Given the description of an element on the screen output the (x, y) to click on. 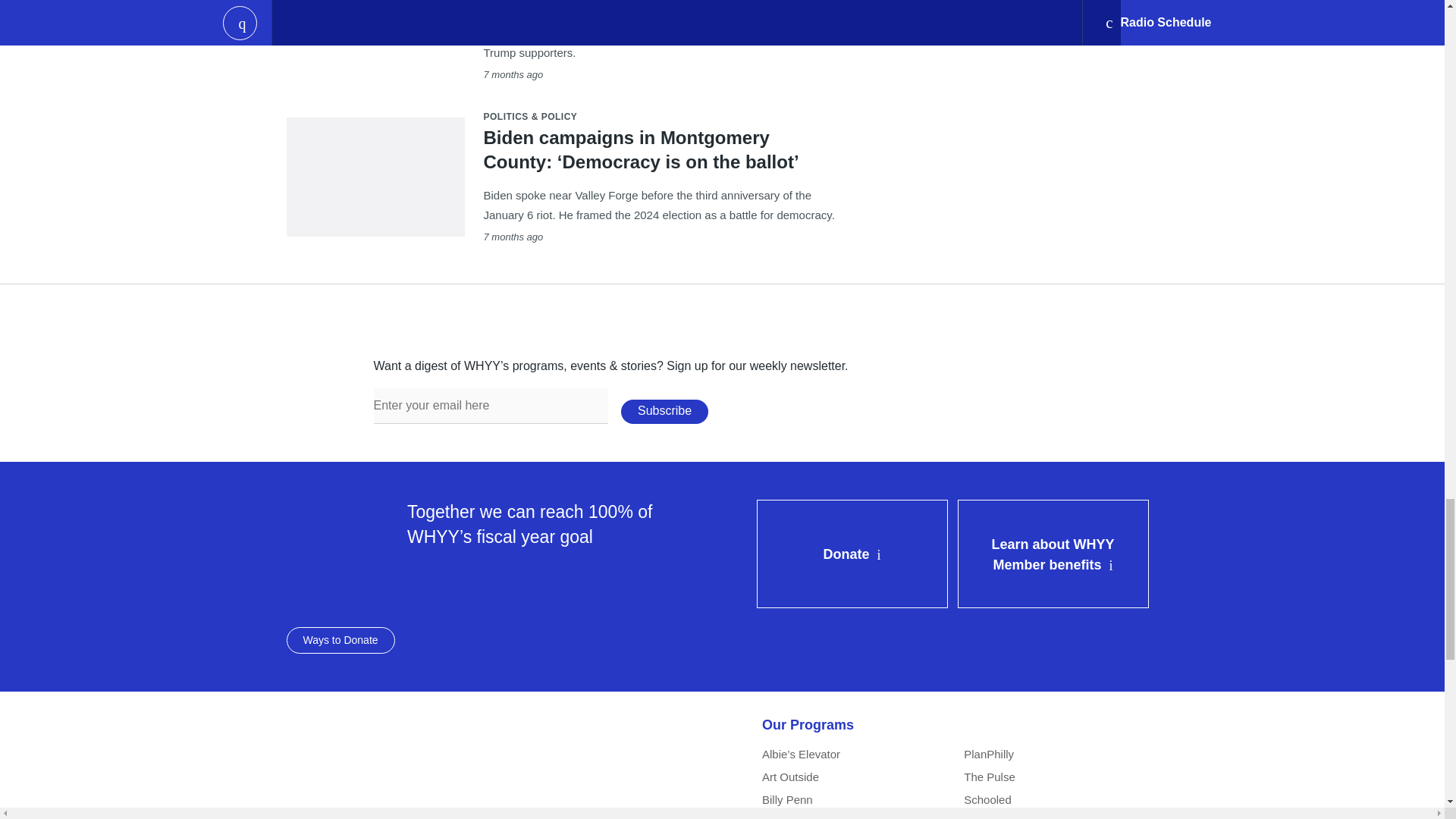
Subscribe (664, 411)
